Given the description of an element on the screen output the (x, y) to click on. 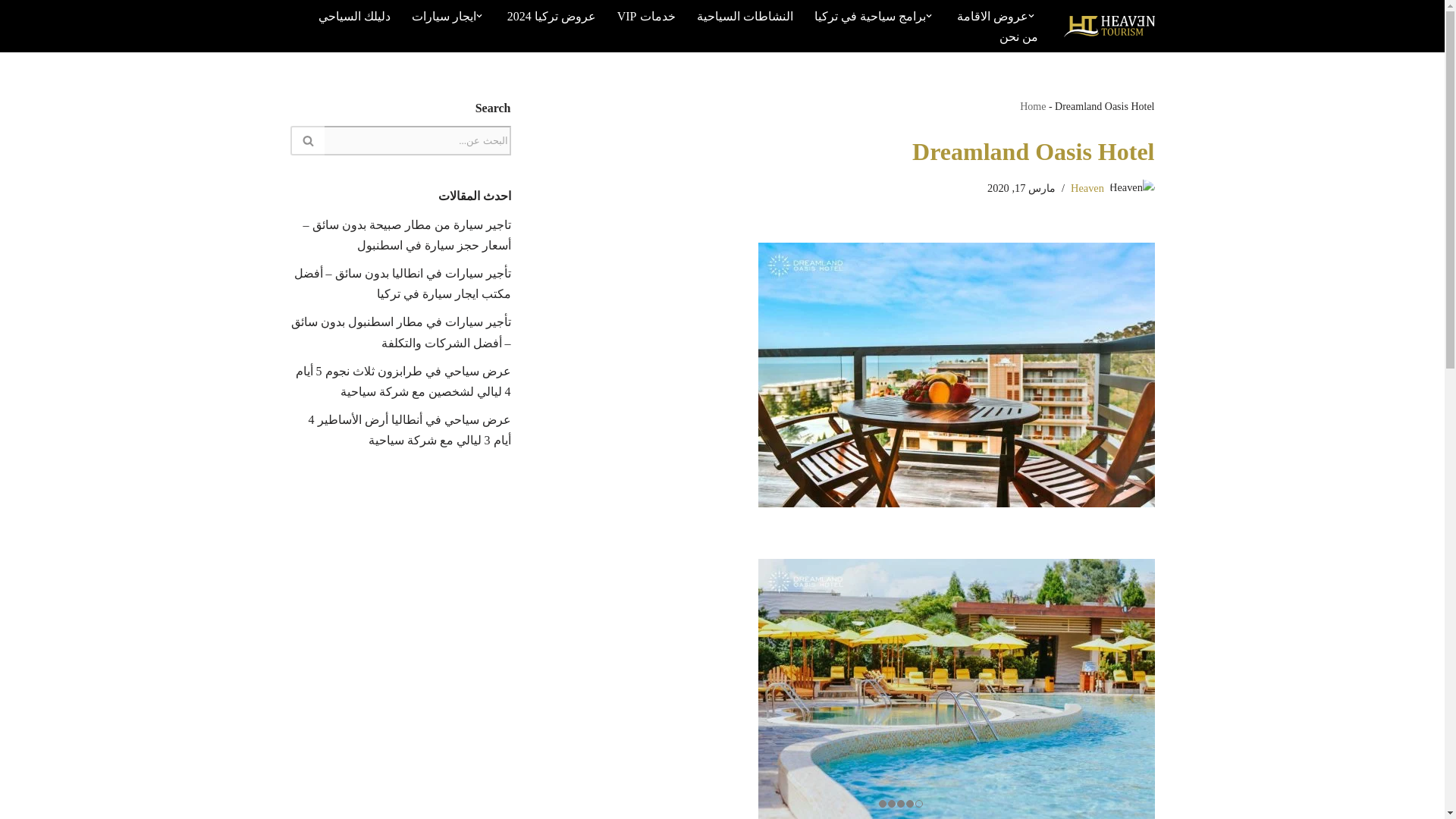
Hotel-Dreamland-Oasis-photos-Exterior-Hotel-Dreamland-Oasis (956, 688)
Dreamland Oasis Hotel 1 (956, 374)
